Given the description of an element on the screen output the (x, y) to click on. 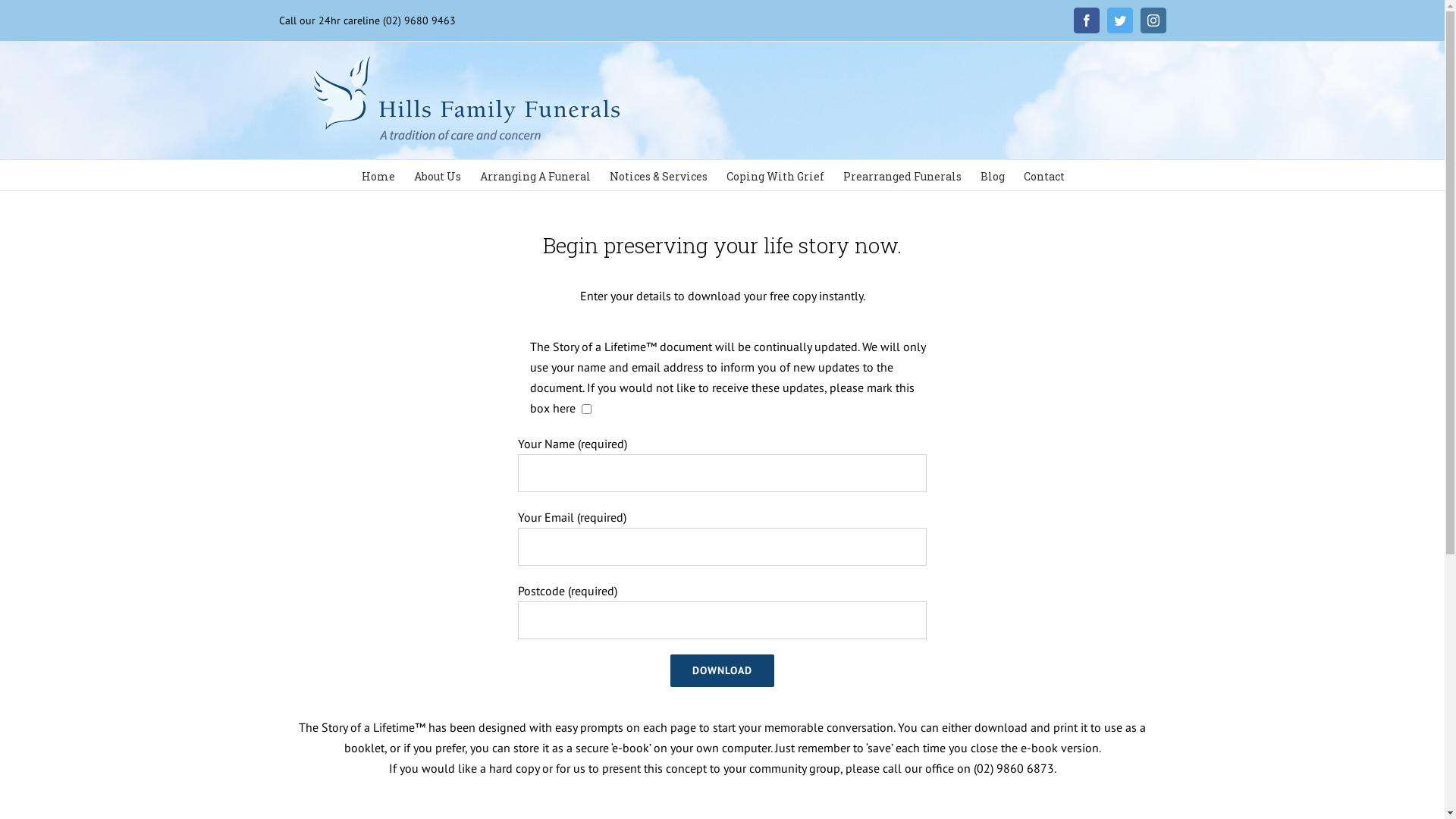
Facebook Element type: text (1086, 20)
Contact Element type: text (1043, 175)
Notices & Services Element type: text (658, 175)
Blog Element type: text (991, 175)
Instagram Element type: text (1153, 20)
Home Element type: text (377, 175)
About Us Element type: text (437, 175)
Twitter Element type: text (1119, 20)
Arranging A Funeral Element type: text (534, 175)
Prearranged Funerals Element type: text (902, 175)
Coping With Grief Element type: text (775, 175)
DOWNLOAD Element type: text (722, 670)
